Given the description of an element on the screen output the (x, y) to click on. 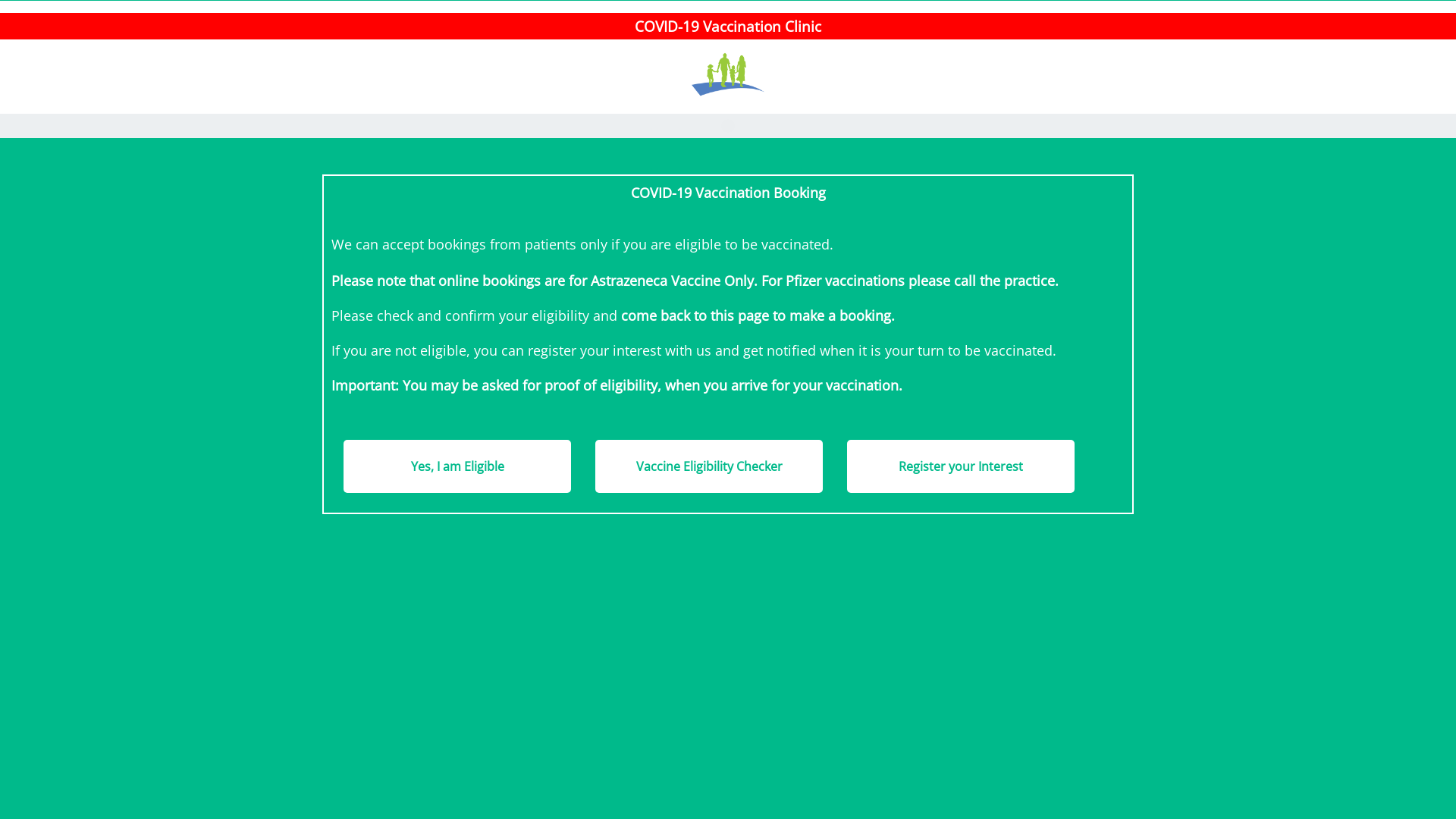
Yes, I am Eligible Element type: text (457, 465)
Register your Interest Element type: text (960, 465)
Vaccine Eligibility Checker Element type: text (708, 465)
